Given the description of an element on the screen output the (x, y) to click on. 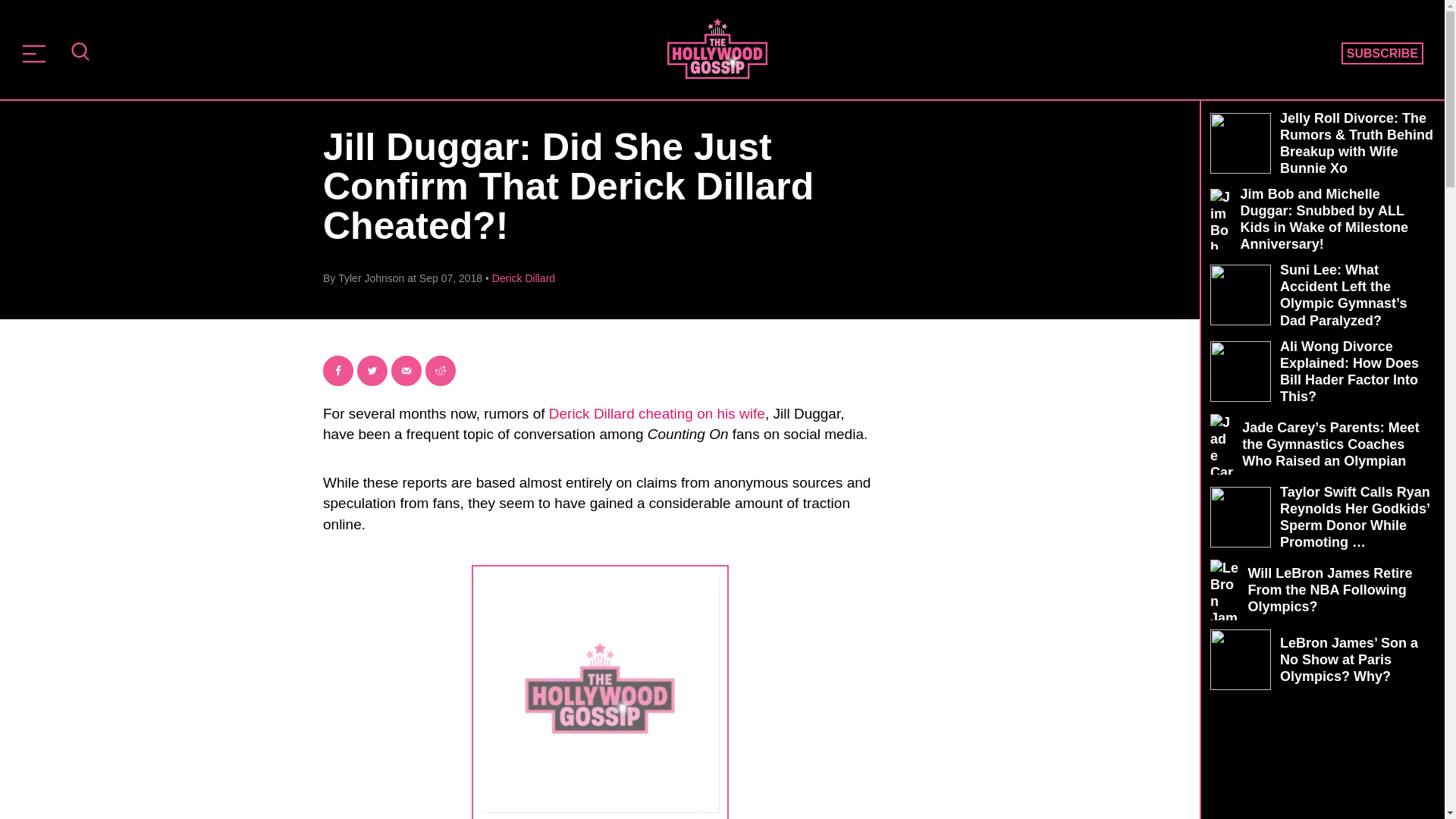
Share on Reddit (440, 370)
Share on Facebook (338, 370)
Will LeBron James Retire From the NBA Following Olympics? (1322, 589)
SUBSCRIBE (1381, 53)
Send over email (406, 370)
SEARCH (79, 53)
Derick Dillard (523, 277)
The Hollywood Gossip (716, 48)
Derick Dillard cheating on his wife (656, 413)
Tyler Johnson (370, 277)
Share on Twitter (371, 370)
